Given the description of an element on the screen output the (x, y) to click on. 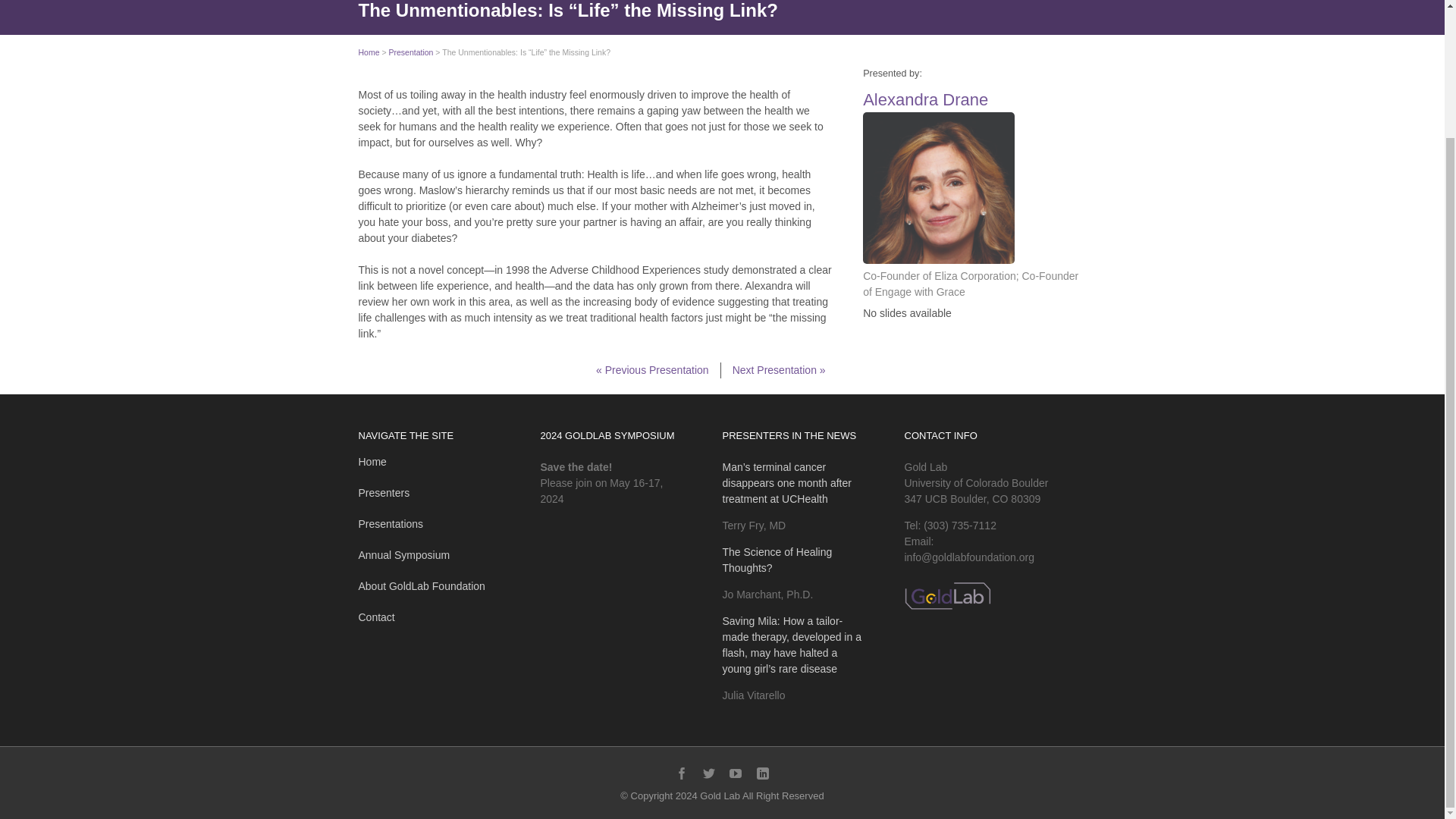
Youtube (735, 773)
About GoldLab Foundation (421, 585)
Contact (376, 616)
Home (368, 51)
Presentation (410, 51)
Annual Symposium (403, 554)
Presentations (390, 523)
Linkedin (762, 773)
Presenters (383, 492)
Alexandra Drane (925, 99)
